Given the description of an element on the screen output the (x, y) to click on. 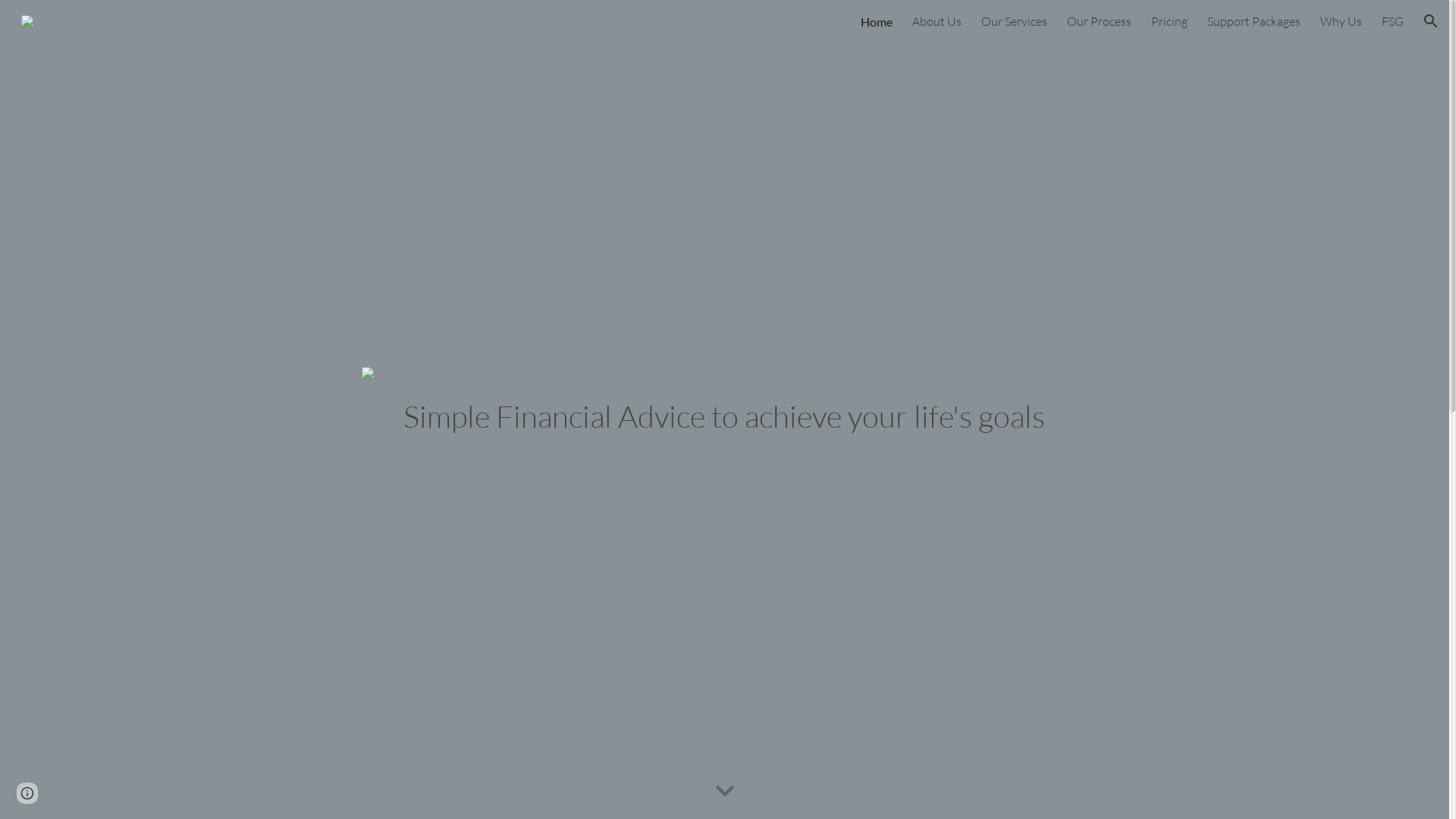
FSG Element type: text (1392, 20)
Pricing Element type: text (1169, 20)
Home Element type: text (876, 20)
Why Us Element type: text (1340, 20)
Support Packages Element type: text (1253, 20)
Our Process Element type: text (1098, 20)
Our Services Element type: text (1014, 20)
About Us Element type: text (936, 20)
